Given the description of an element on the screen output the (x, y) to click on. 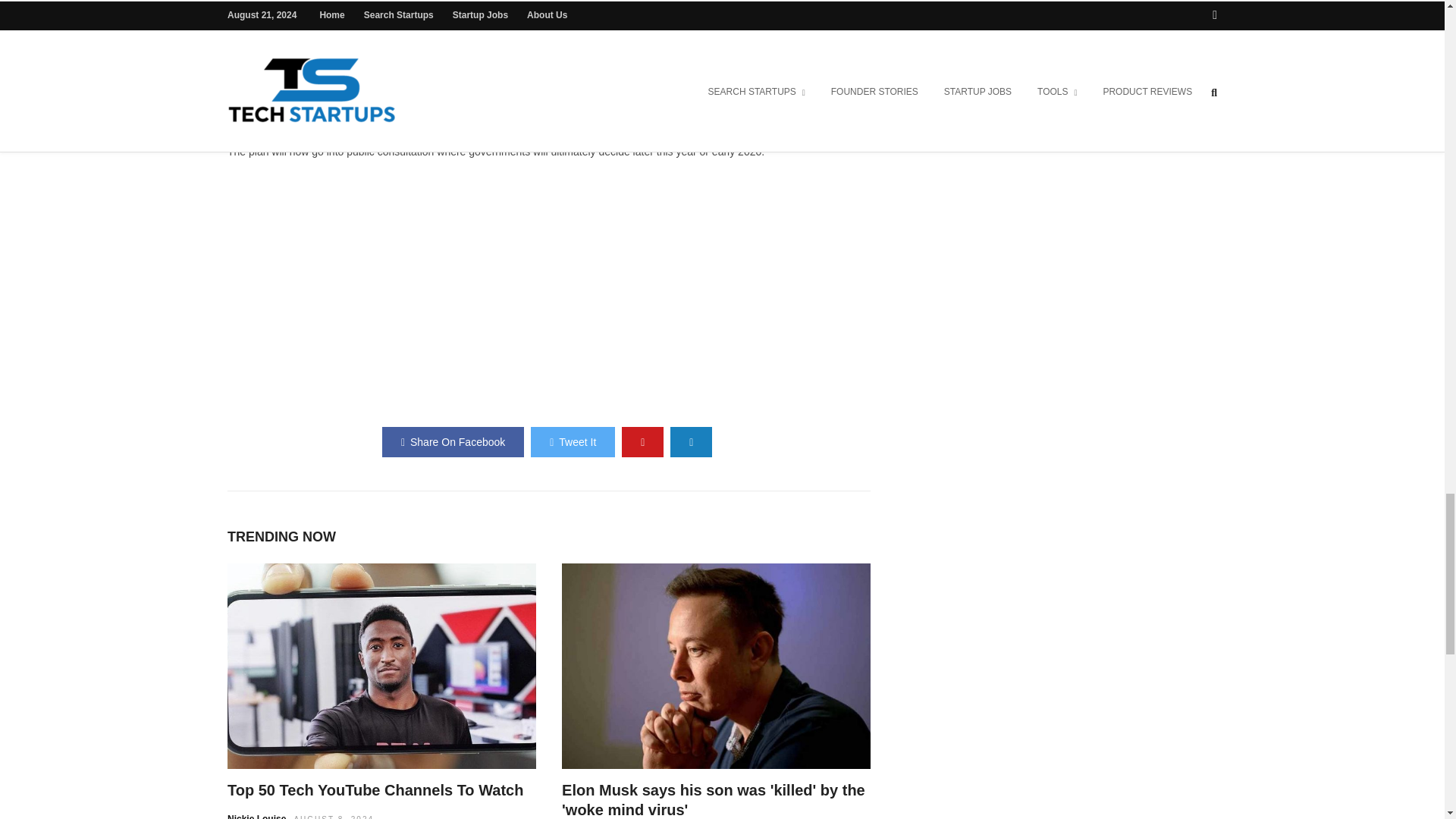
Share by Email (690, 441)
Share On Facebook (452, 441)
Tweet It (572, 441)
Share On Facebook (452, 441)
Share On Pinterest (642, 441)
Share On Twitter (572, 441)
